Given the description of an element on the screen output the (x, y) to click on. 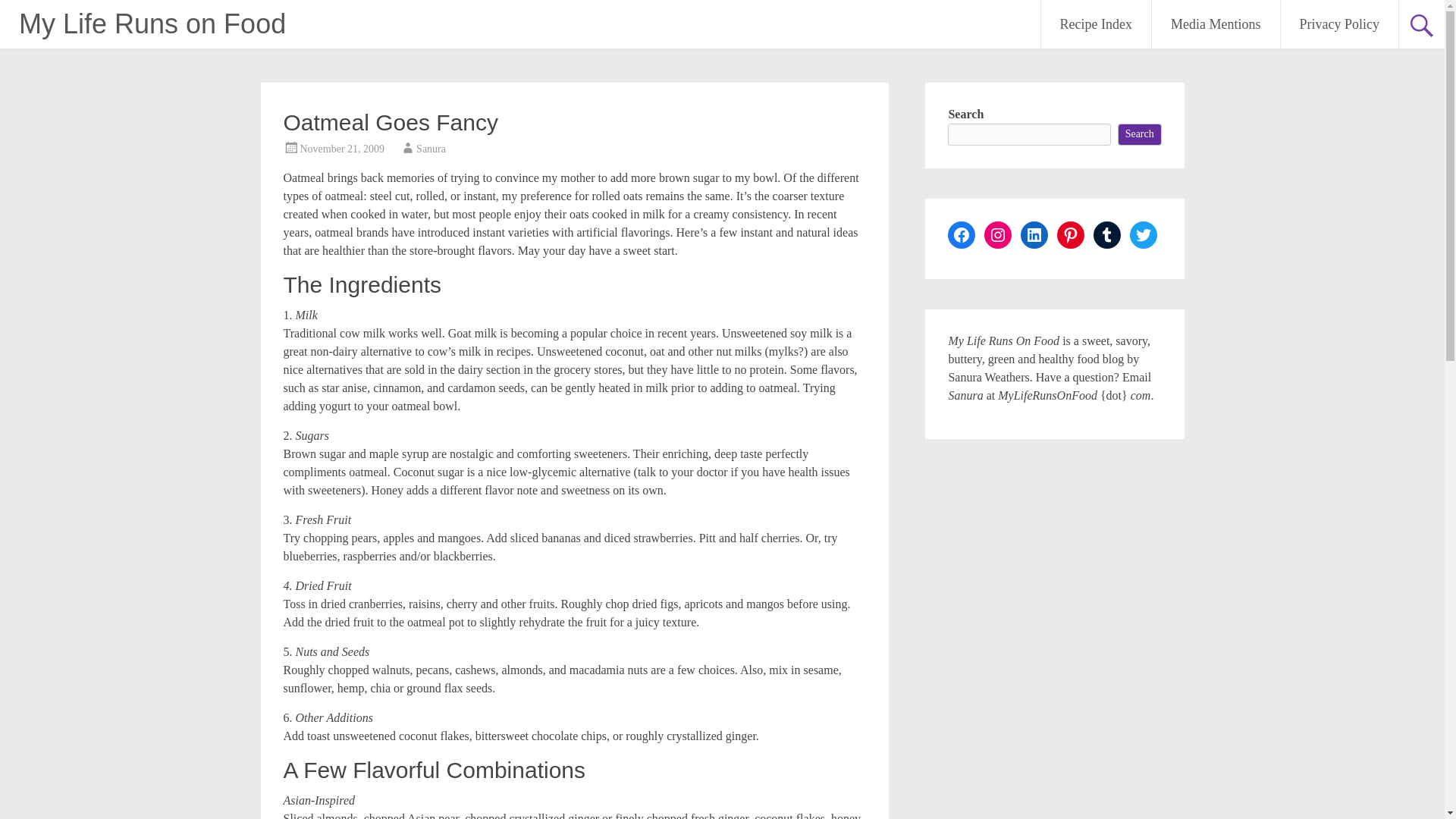
Tumblr (1107, 234)
Twitter (1143, 234)
Pinterest (1070, 234)
Media Mentions (1215, 24)
Sanura (430, 148)
Privacy Policy (1338, 24)
Facebook (961, 234)
Recipe Index (1096, 24)
My Life Runs on Food (151, 23)
LinkedIn (1034, 234)
Search (1139, 134)
My Life Runs on Food (151, 23)
Instagram (997, 234)
November 21, 2009 (342, 148)
